Given the description of an element on the screen output the (x, y) to click on. 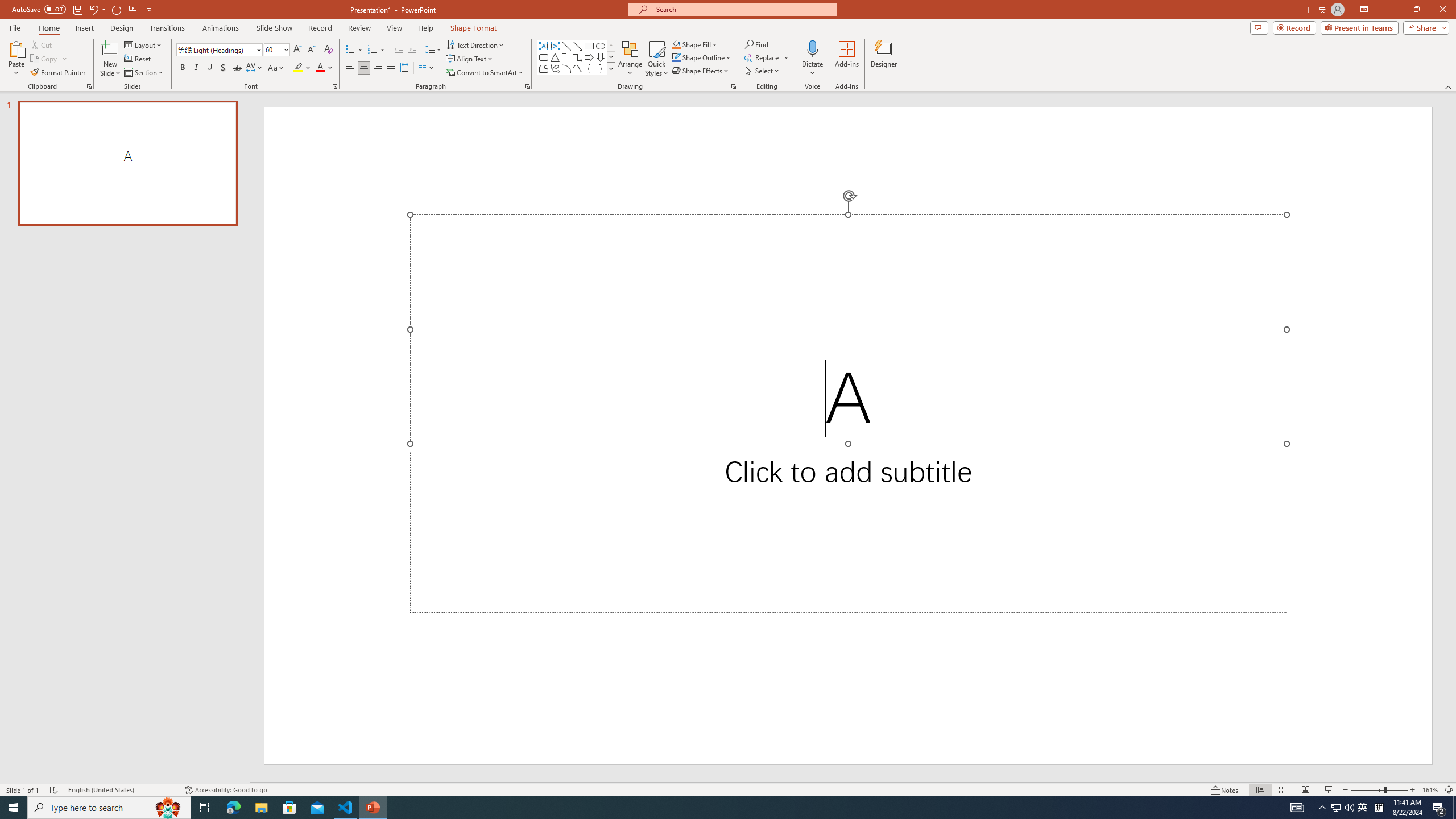
Zoom 161% (1430, 790)
